Given the description of an element on the screen output the (x, y) to click on. 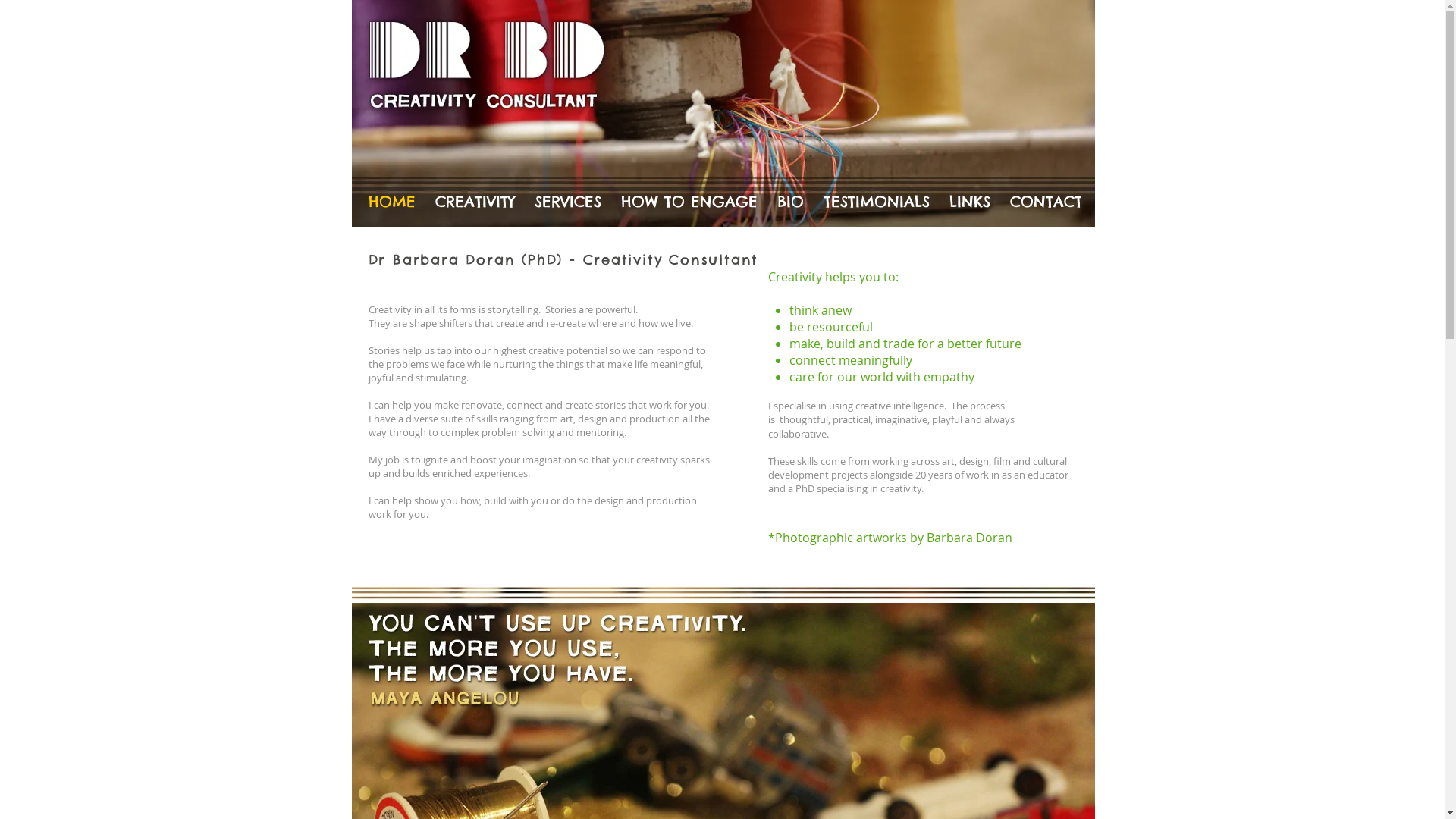
SERVICES Element type: text (567, 200)
CREATIVITY Element type: text (474, 200)
TESTIMONIALS Element type: text (875, 200)
HOW TO ENGAGE Element type: text (689, 200)
LINKS Element type: text (968, 200)
DRBD-Header-6.jpg Element type: hover (723, 113)
HOME Element type: text (390, 200)
BIO Element type: text (790, 200)
CONTACT Element type: text (1045, 200)
